Given the description of an element on the screen output the (x, y) to click on. 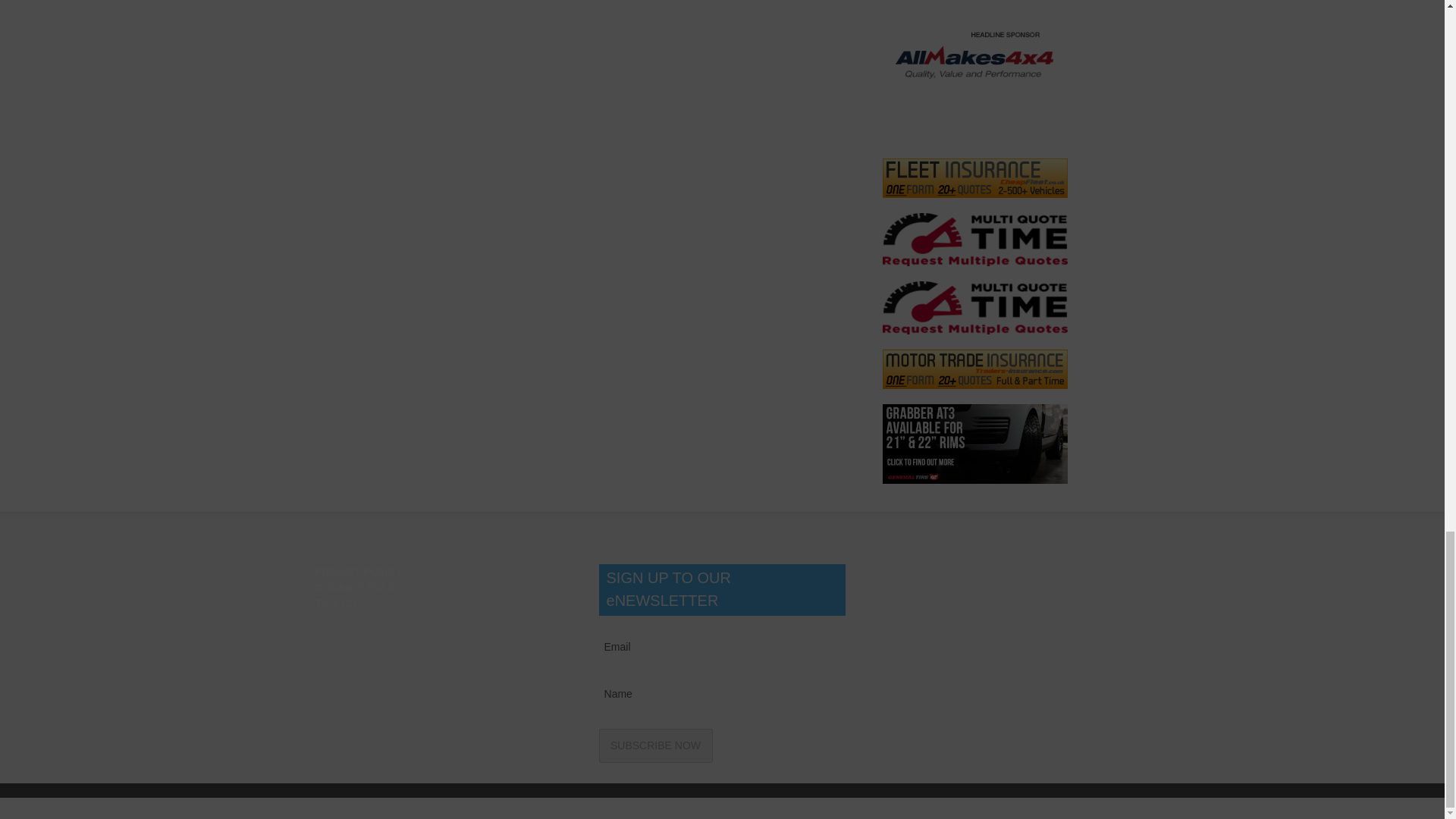
Email (727, 647)
GBLRS Newark (974, 71)
SUBSCRIBE NOW (655, 745)
Name (727, 693)
get a motor fleet insurance quote (974, 178)
